Given the description of an element on the screen output the (x, y) to click on. 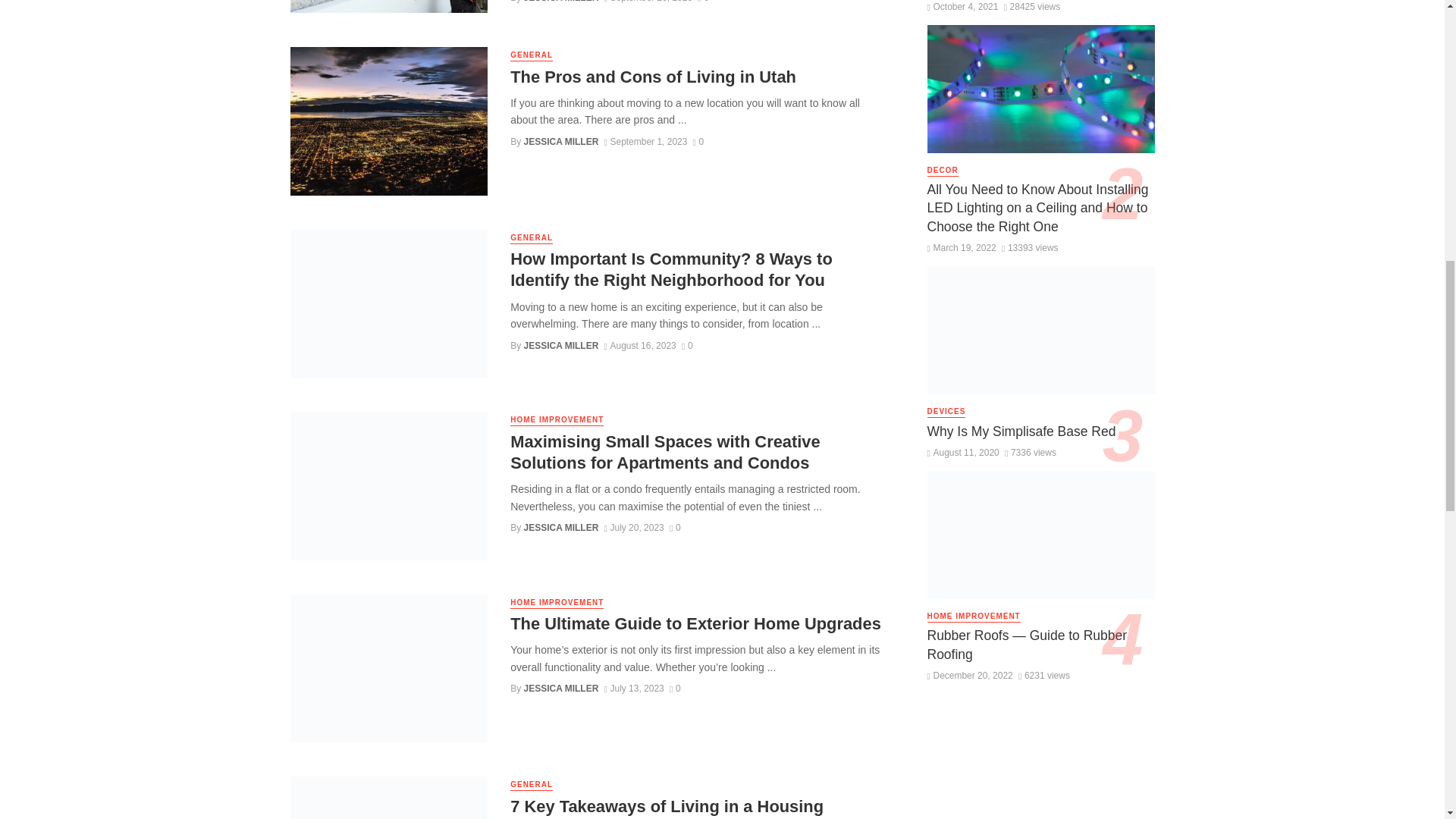
0 (703, 1)
September 26, 2023 at 11:44 am (648, 1)
0 Comments (698, 141)
JESSICA MILLER (561, 141)
The Pros and Cons of Living in Utah (653, 76)
July 13, 2023 at 6:48 am (633, 688)
0 Comments (675, 688)
0 Comments (687, 345)
0 Comments (703, 1)
July 20, 2023 at 6:43 am (633, 527)
